Given the description of an element on the screen output the (x, y) to click on. 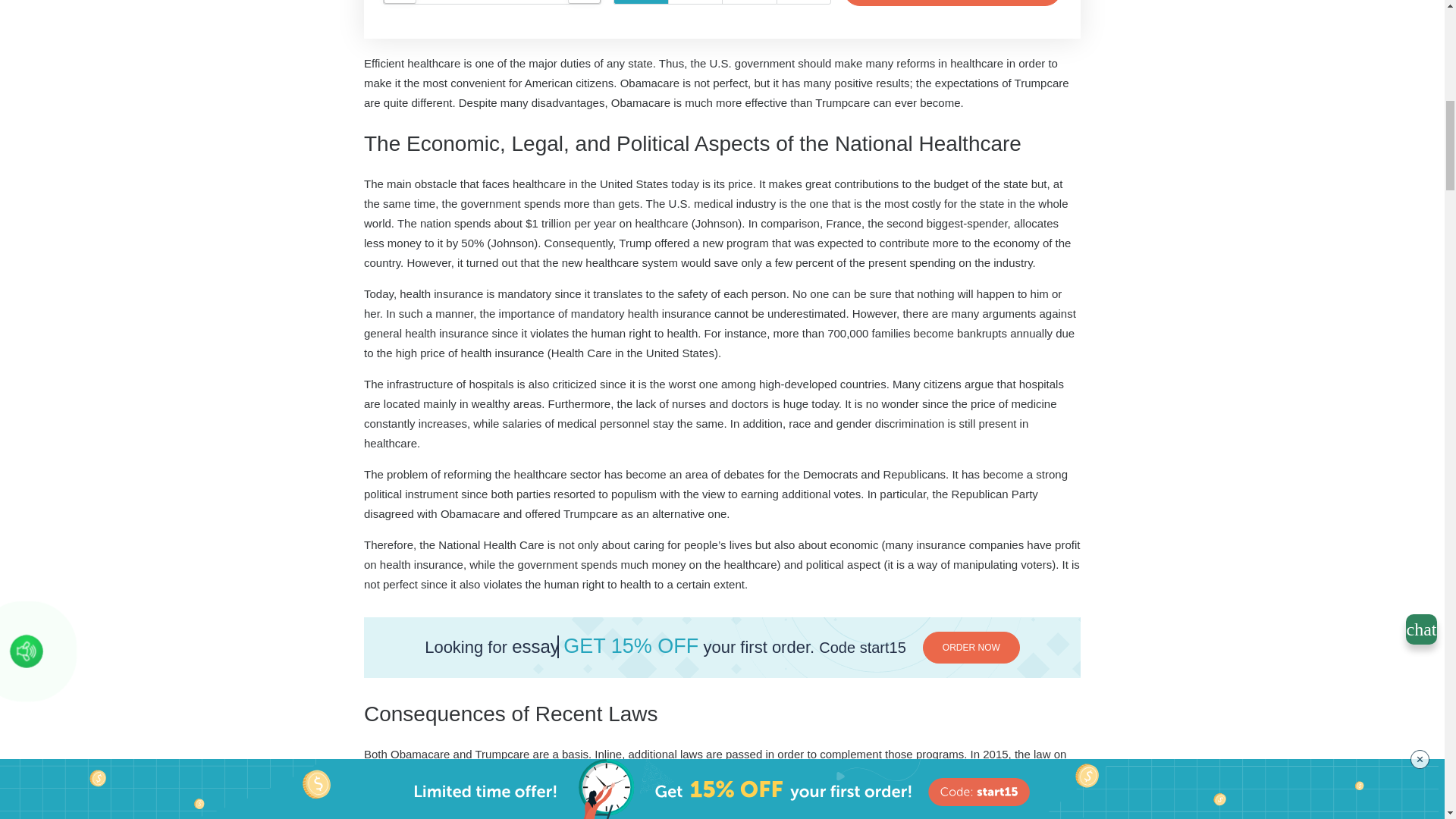
USD (640, 2)
AUD (803, 2)
EUR (695, 2)
CAD (749, 2)
Plus (583, 2)
Minus (400, 2)
